Given the description of an element on the screen output the (x, y) to click on. 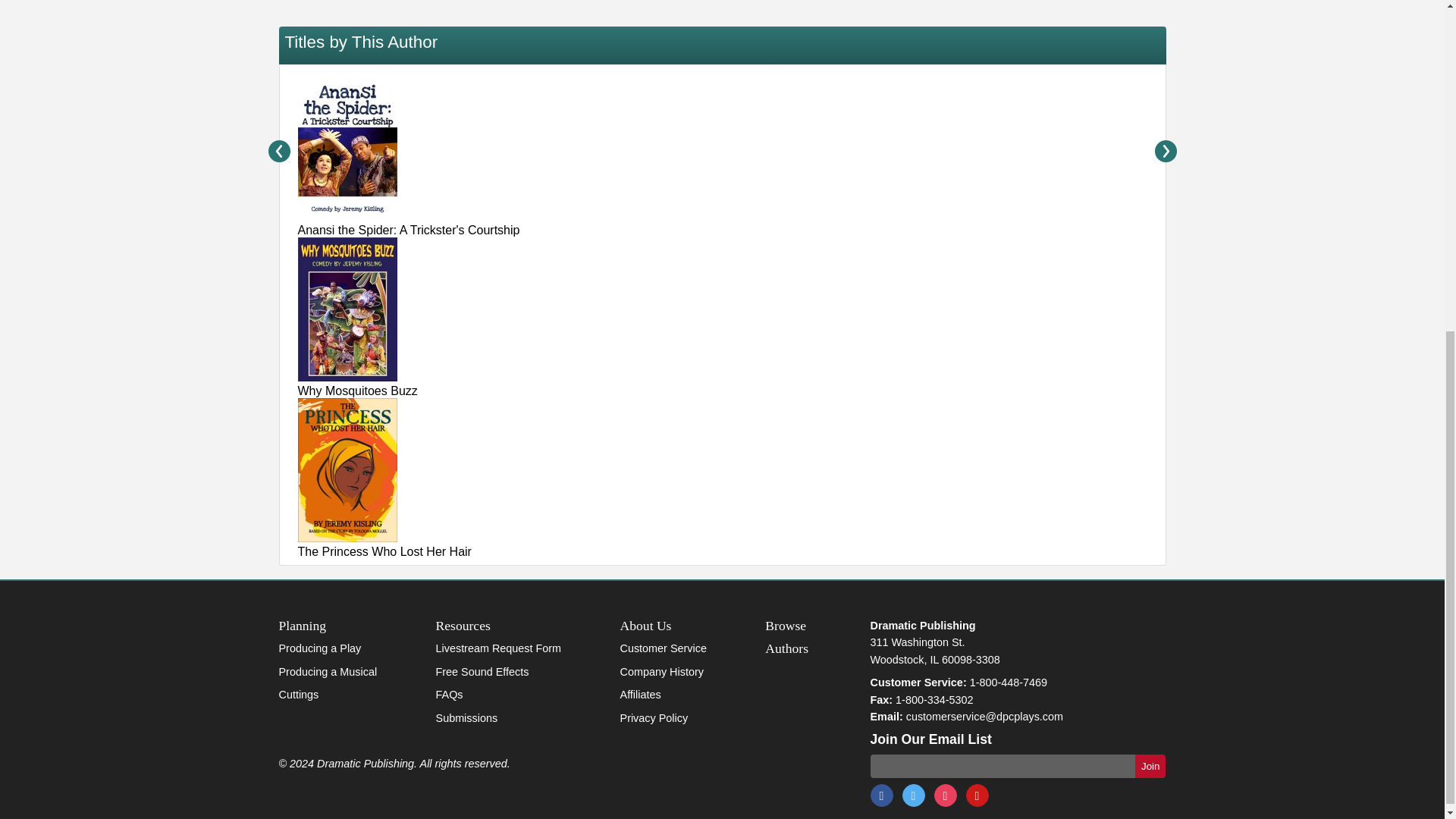
Join (1150, 766)
